Given the description of an element on the screen output the (x, y) to click on. 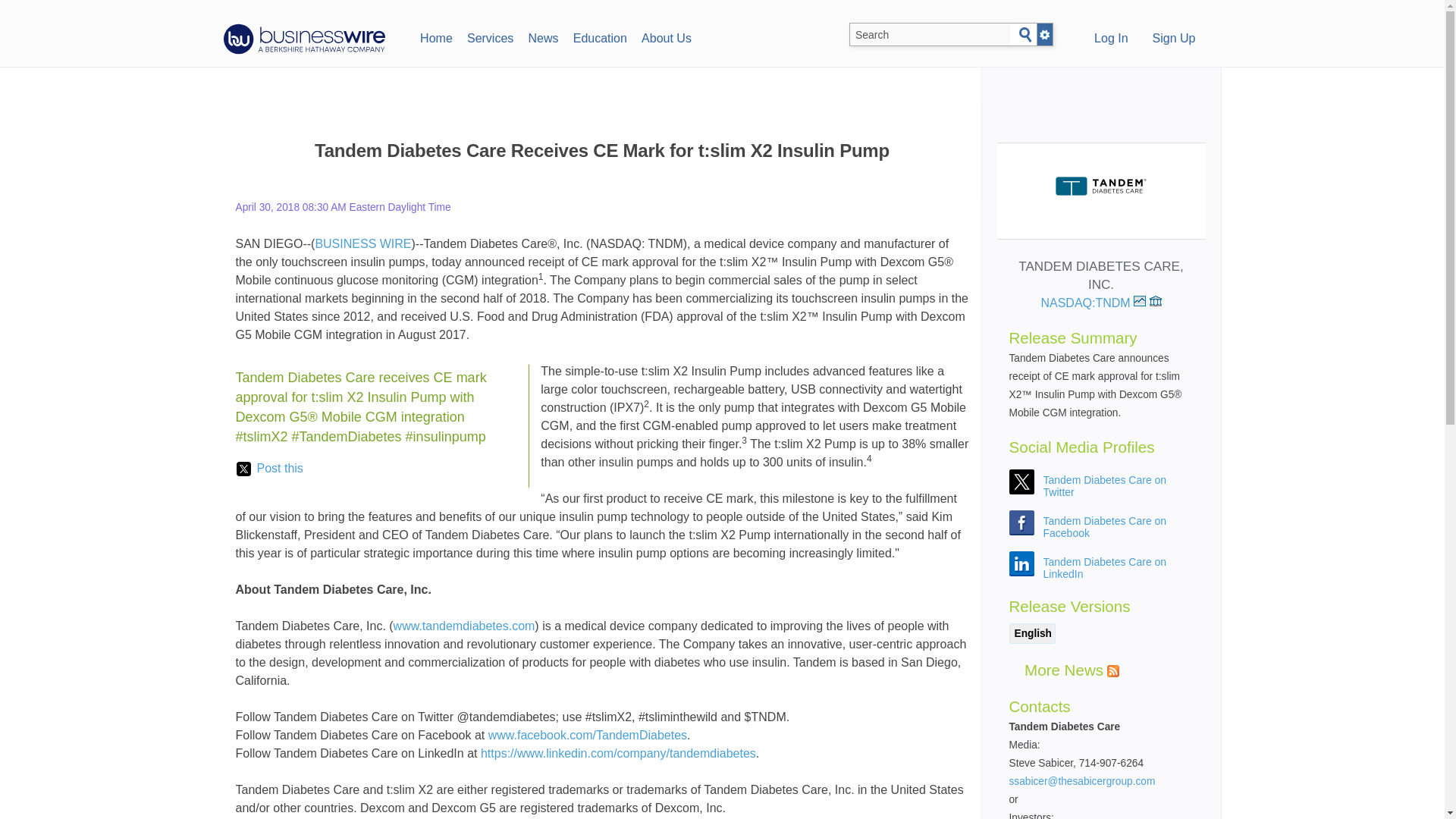
Education (599, 36)
Services (490, 36)
RSS feed for Tandem Diabetes Care (1112, 671)
News (543, 36)
Search BusinessWire.com (930, 34)
Tandem Diabetes Care on Facebook (1105, 526)
Post this (269, 468)
View stock quote and chart (1139, 300)
Tandem Diabetes Care on Twitter (1105, 485)
Home (436, 36)
BUSINESS WIRE (362, 243)
About Us (665, 36)
View SEC Filings (1155, 300)
Tandem Diabetes Care on LinkedIn (1105, 567)
www.tandemdiabetes.com (464, 625)
